Given the description of an element on the screen output the (x, y) to click on. 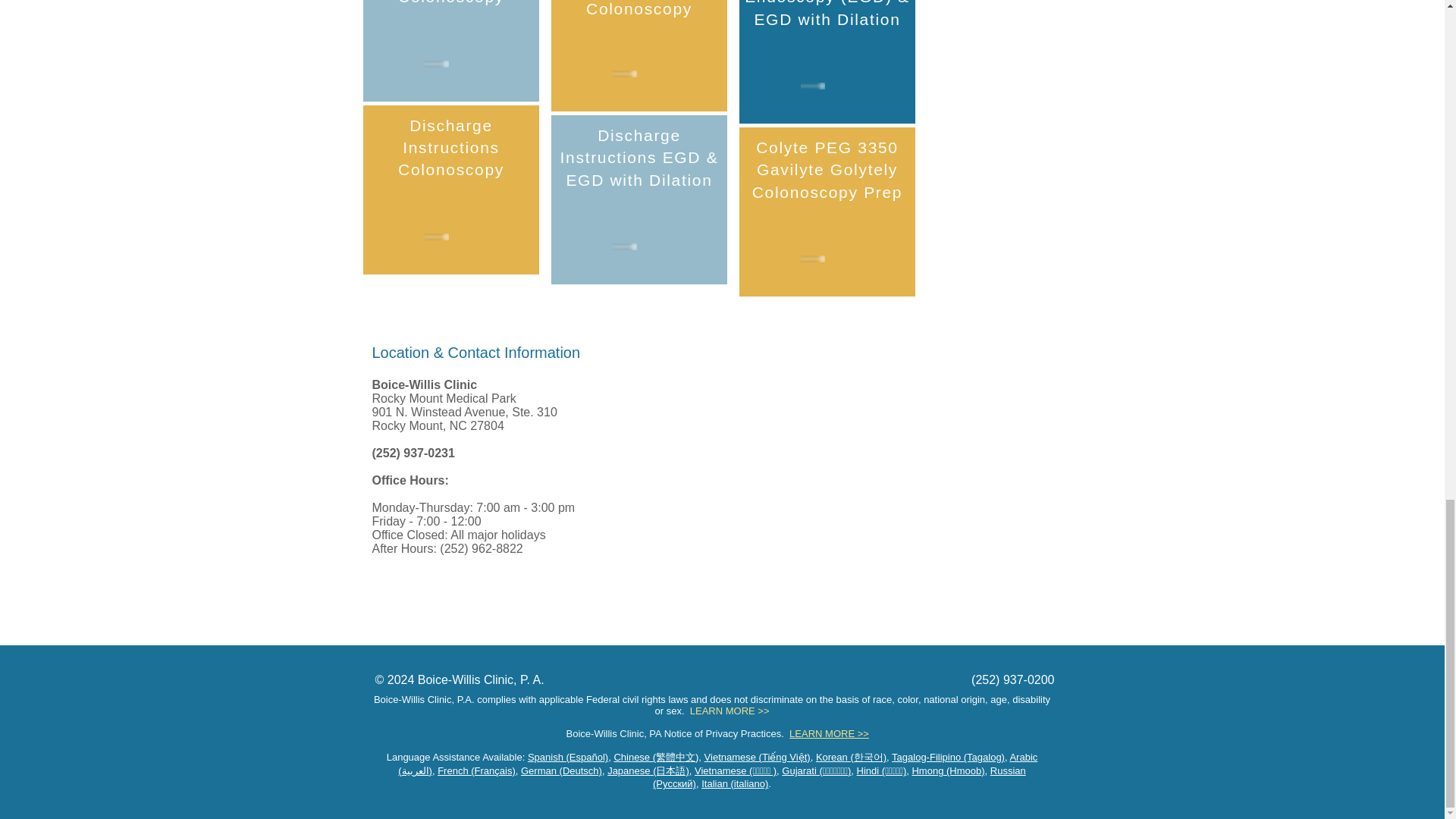
Clenpiq Prep for Colonoscopy (451, 2)
Discharge Instructions Colonoscopy (450, 148)
